Given the description of an element on the screen output the (x, y) to click on. 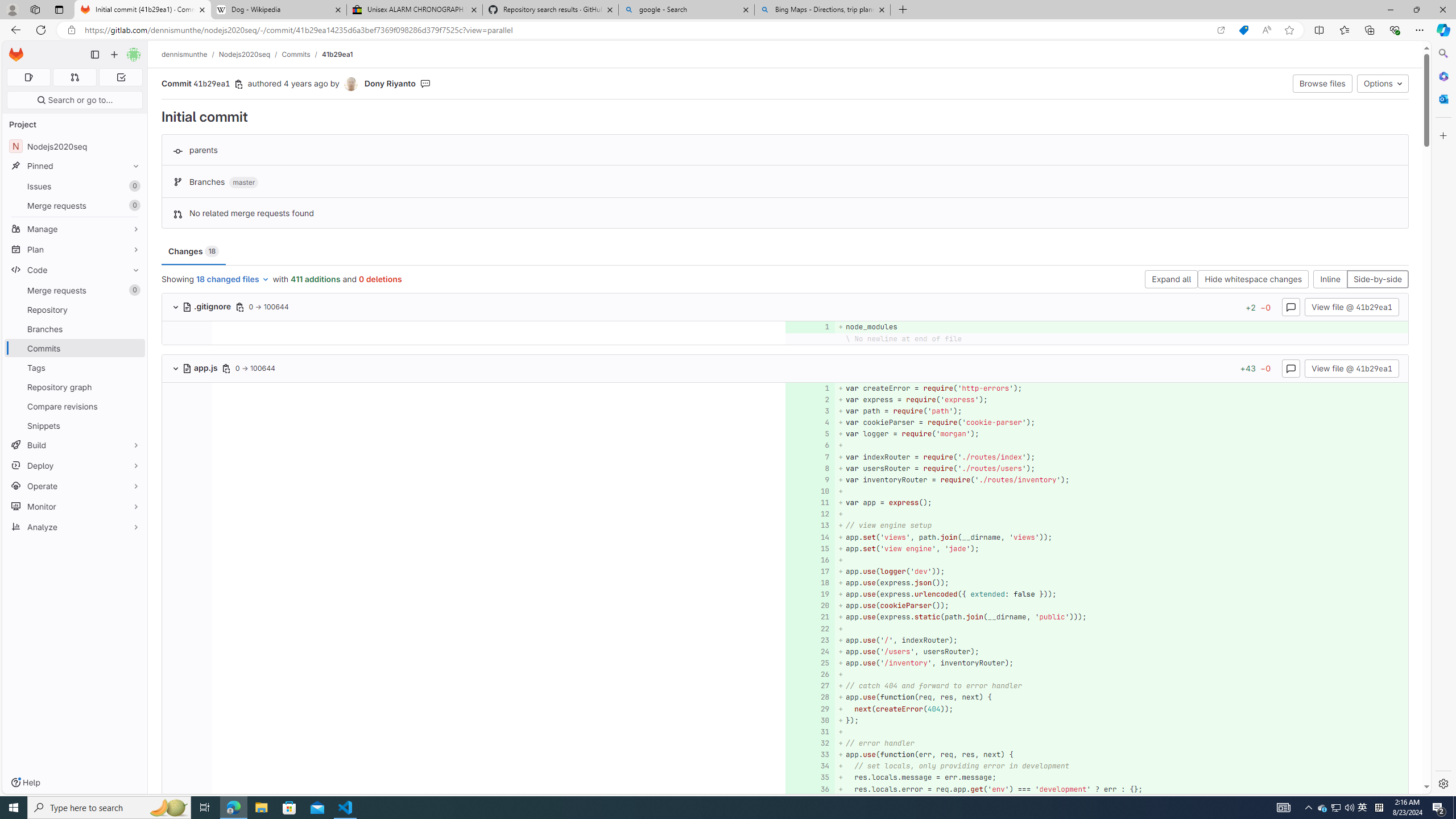
Operate (74, 485)
Commits (295, 53)
Class: line_holder parallel (784, 788)
Add a comment to this line 32 (809, 743)
Analyze (74, 526)
Open in app (1220, 29)
Build (74, 444)
Toggle comments for this file (1290, 367)
Create new... (113, 54)
18 (808, 582)
Inline (1329, 279)
19 (808, 594)
